Given the description of an element on the screen output the (x, y) to click on. 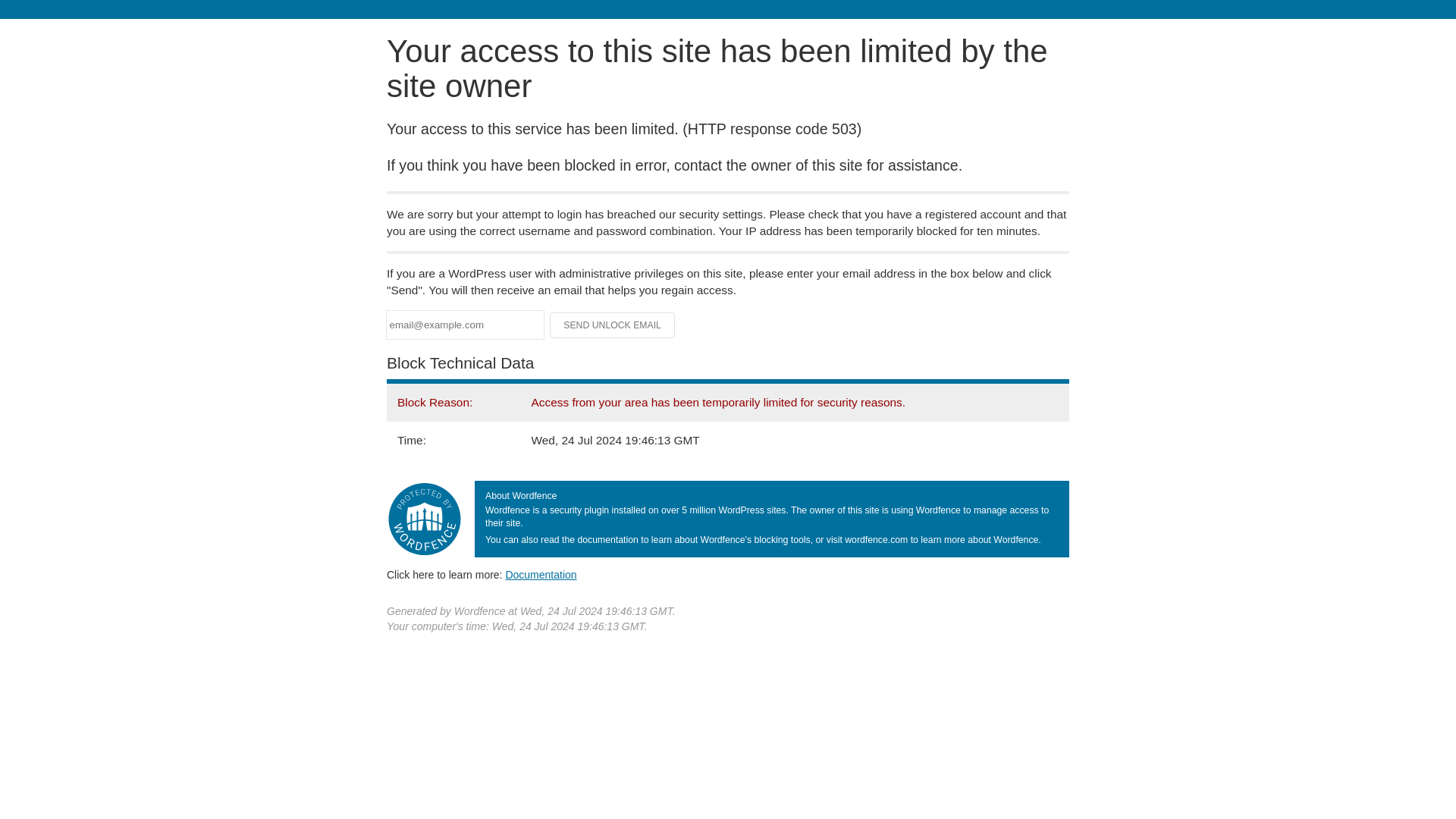
Send Unlock Email (612, 325)
Documentation (540, 574)
Send Unlock Email (612, 325)
